Given the description of an element on the screen output the (x, y) to click on. 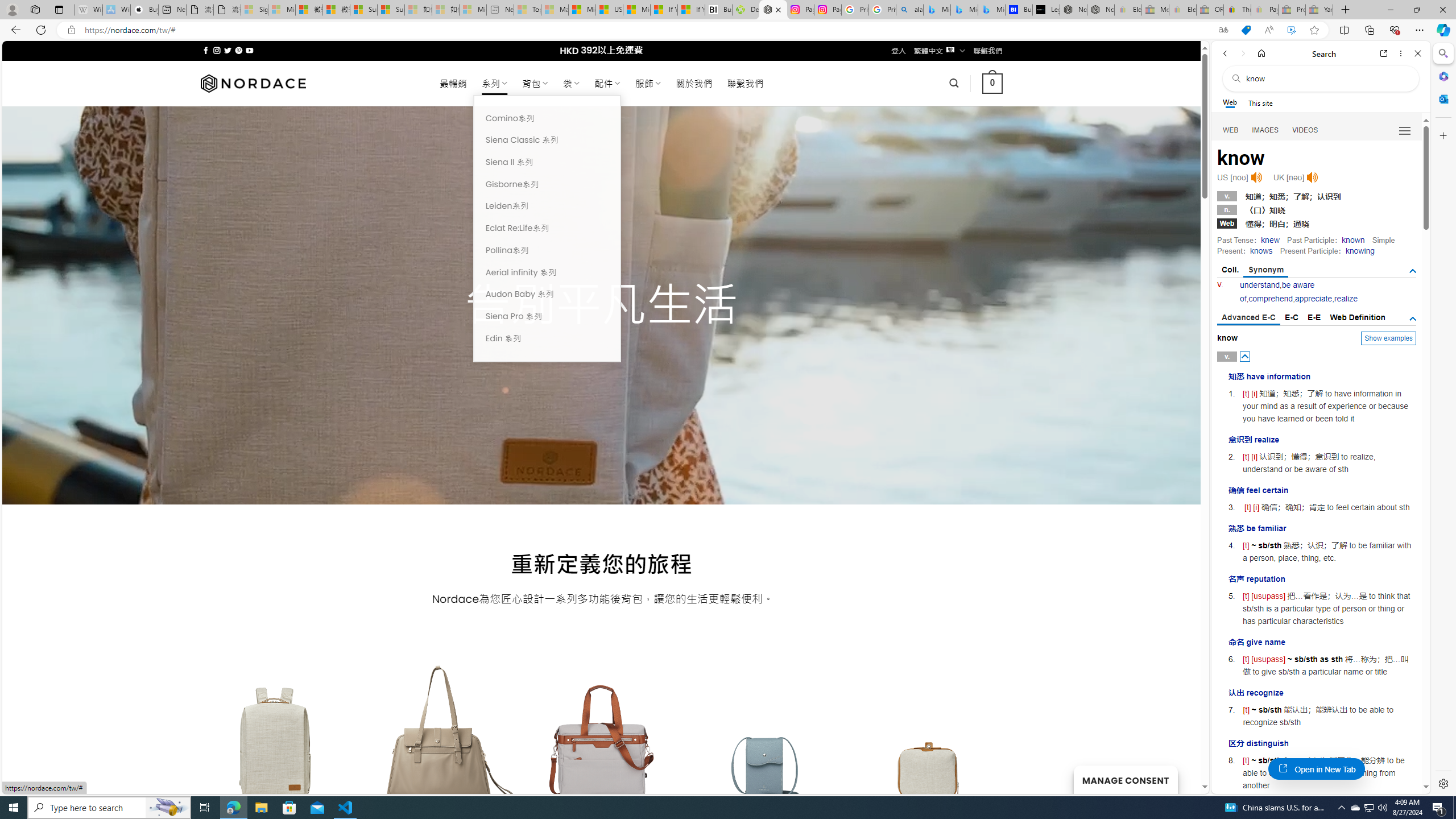
AutomationID: tgsb (1412, 270)
E-E (1314, 317)
Class: b_serphb (1404, 130)
knew (1269, 239)
Microsoft Bing Travel - Flights from Hong Kong to Bangkok (936, 9)
Descarga Driver Updater (746, 9)
appreciate (1313, 298)
